Given the description of an element on the screen output the (x, y) to click on. 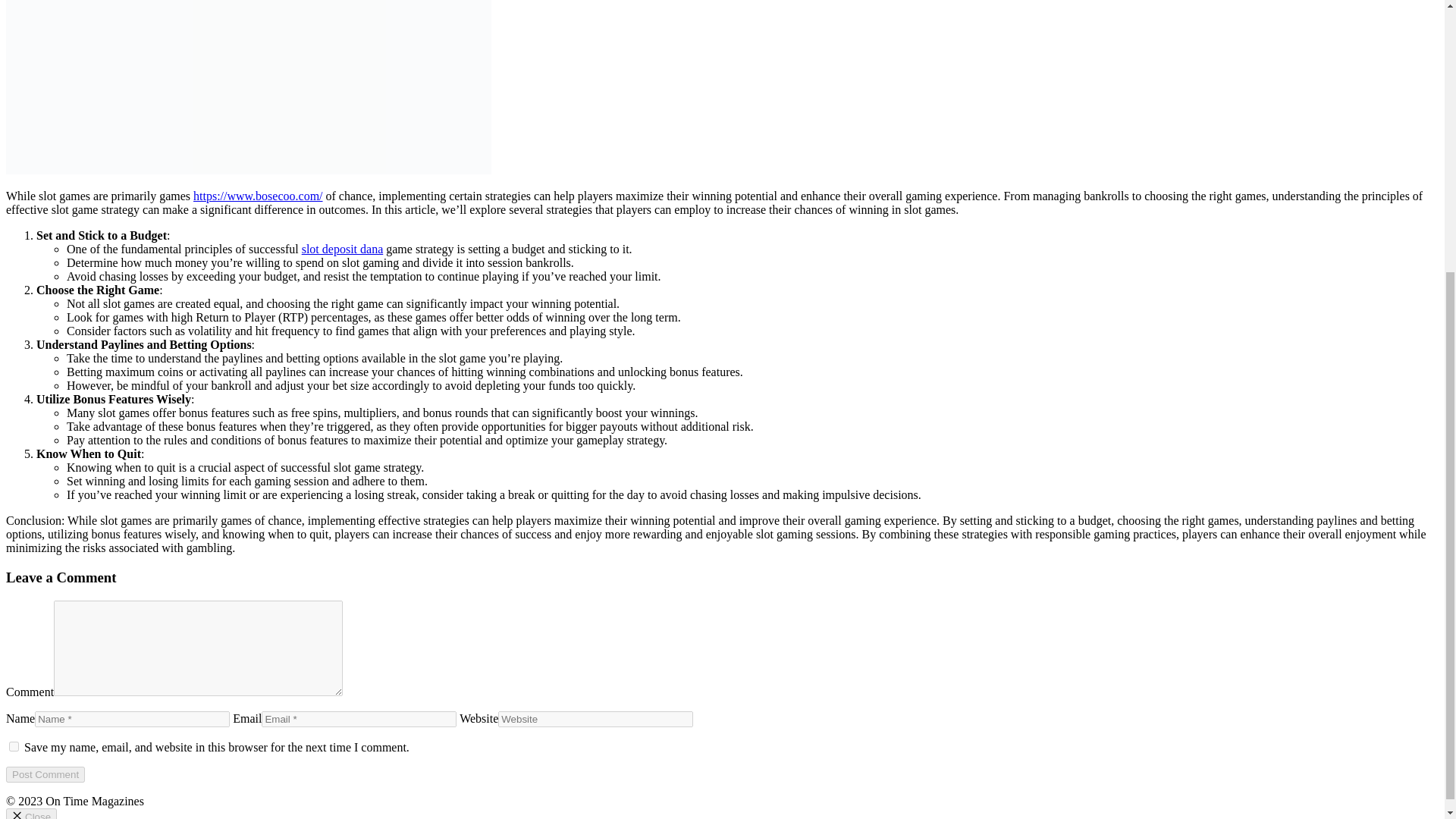
Post Comment (44, 774)
yes (13, 746)
slot deposit dana (342, 248)
Post Comment (44, 774)
